Given the description of an element on the screen output the (x, y) to click on. 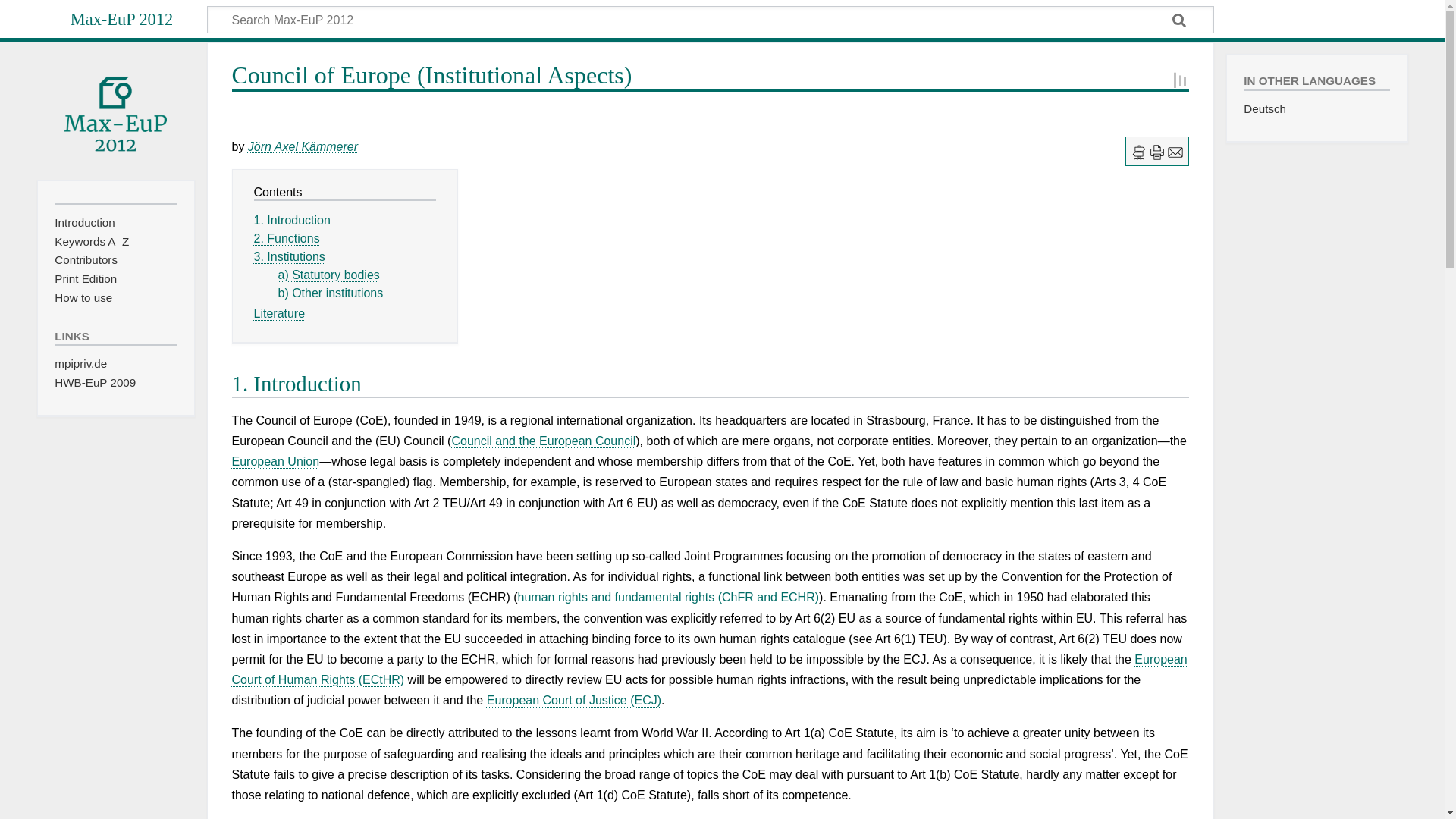
Print Edition (85, 278)
Literature (278, 313)
Contributors (86, 259)
Search the pages for this text (1179, 21)
mpipriv.de (80, 363)
Council and the European Council (542, 440)
Go (1179, 21)
2. Functions (285, 237)
Links to this page (1138, 151)
Go (1179, 21)
